Given the description of an element on the screen output the (x, y) to click on. 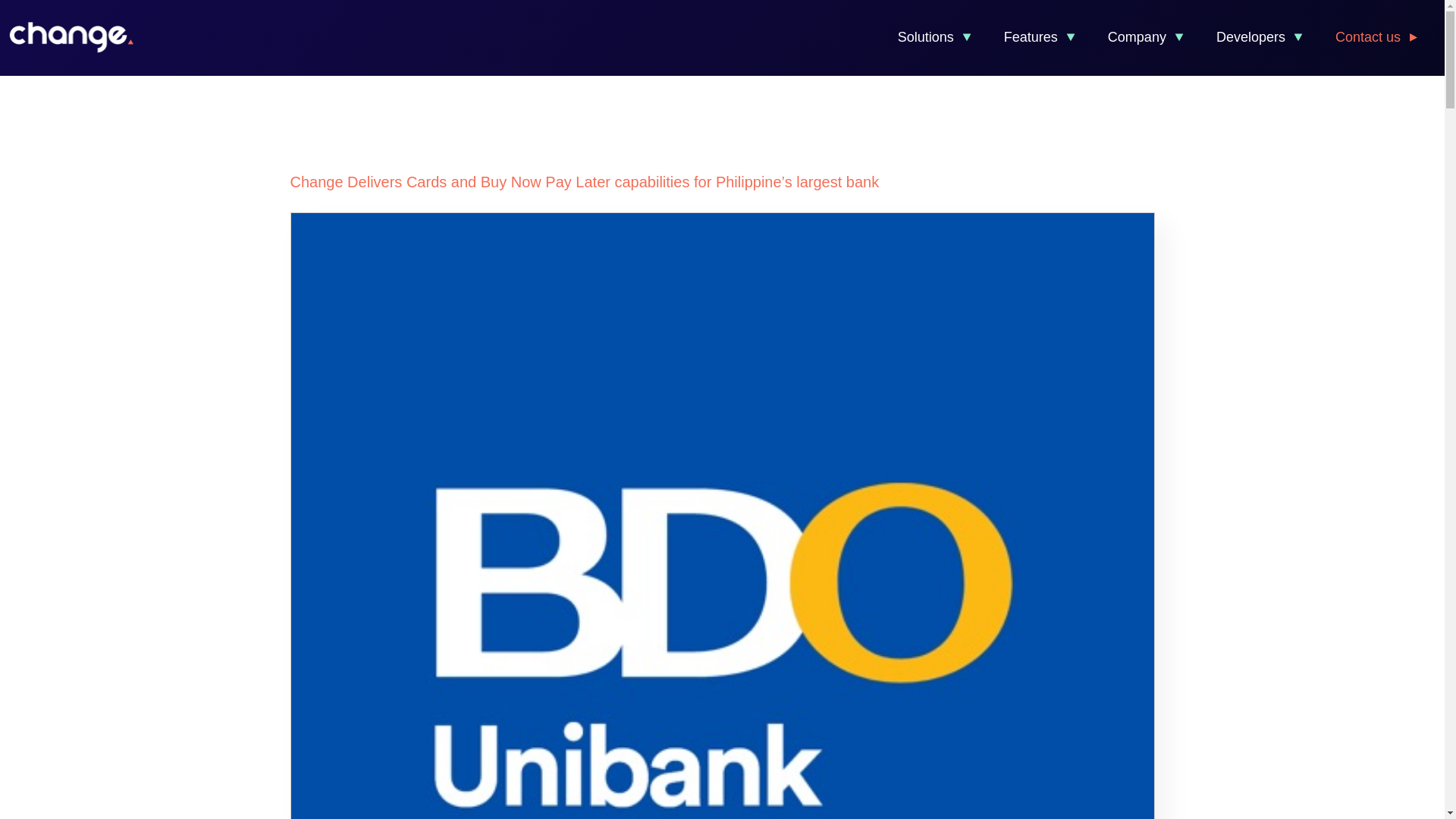
Contact us (1377, 38)
Solutions (935, 38)
Developers (1260, 38)
Features (1040, 38)
Company (1147, 38)
